Given the description of an element on the screen output the (x, y) to click on. 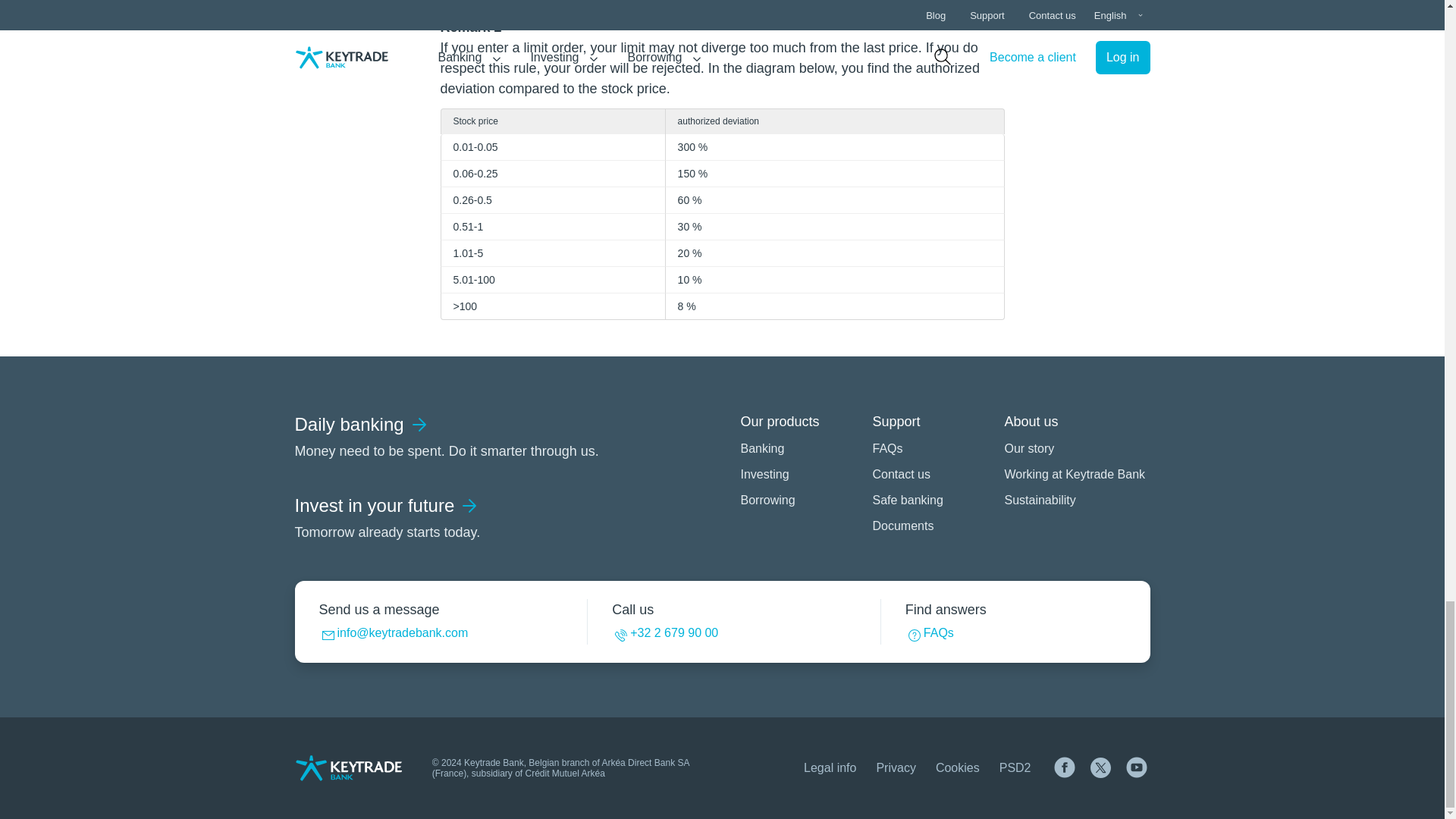
Contact us (928, 475)
Banking (796, 448)
FAQs (928, 448)
FAQs (929, 634)
Working at Keytrade Bank (1074, 475)
Safe banking (928, 500)
Sustainability (387, 517)
Investing (1074, 500)
